Given the description of an element on the screen output the (x, y) to click on. 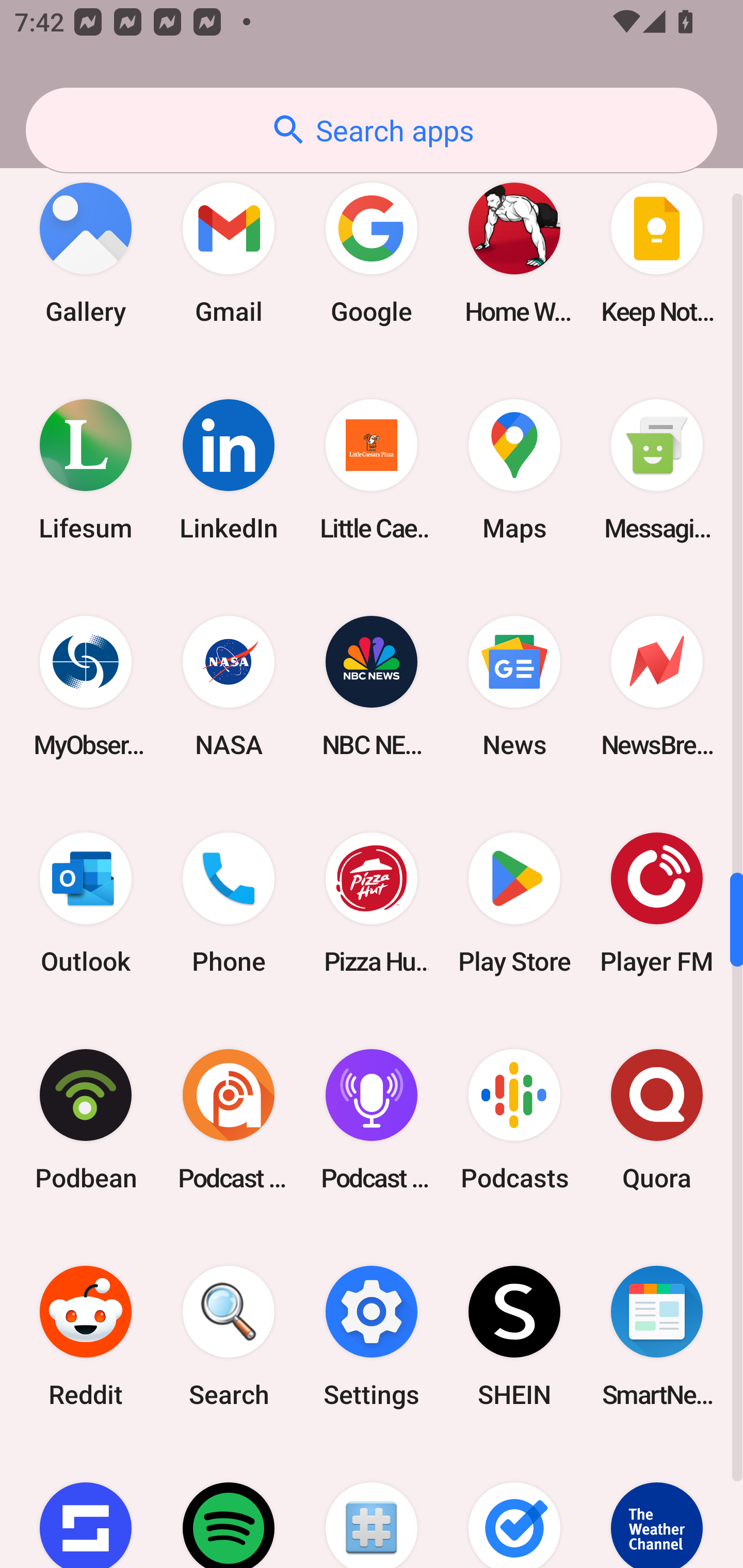
  Search apps (371, 130)
Gallery (85, 253)
Gmail (228, 253)
Google (371, 253)
Home Workout (514, 253)
Keep Notes (656, 253)
Lifesum (85, 470)
LinkedIn (228, 470)
Little Caesars Pizza (371, 470)
Maps (514, 470)
Messaging (656, 470)
MyObservatory (85, 686)
NASA (228, 686)
NBC NEWS (371, 686)
News (514, 686)
NewsBreak (656, 686)
Outlook (85, 902)
Phone (228, 902)
Pizza Hut HK & Macau (371, 902)
Play Store (514, 902)
Player FM (656, 902)
Podbean (85, 1119)
Podcast Addict (228, 1119)
Podcast Player (371, 1119)
Podcasts (514, 1119)
Quora (656, 1119)
Reddit (85, 1335)
Search (228, 1335)
Settings (371, 1335)
SHEIN (514, 1335)
SmartNews (656, 1335)
Sofascore (85, 1506)
Spotify (228, 1506)
Superuser (371, 1506)
Tasks (514, 1506)
The Weather Channel (656, 1506)
